Given the description of an element on the screen output the (x, y) to click on. 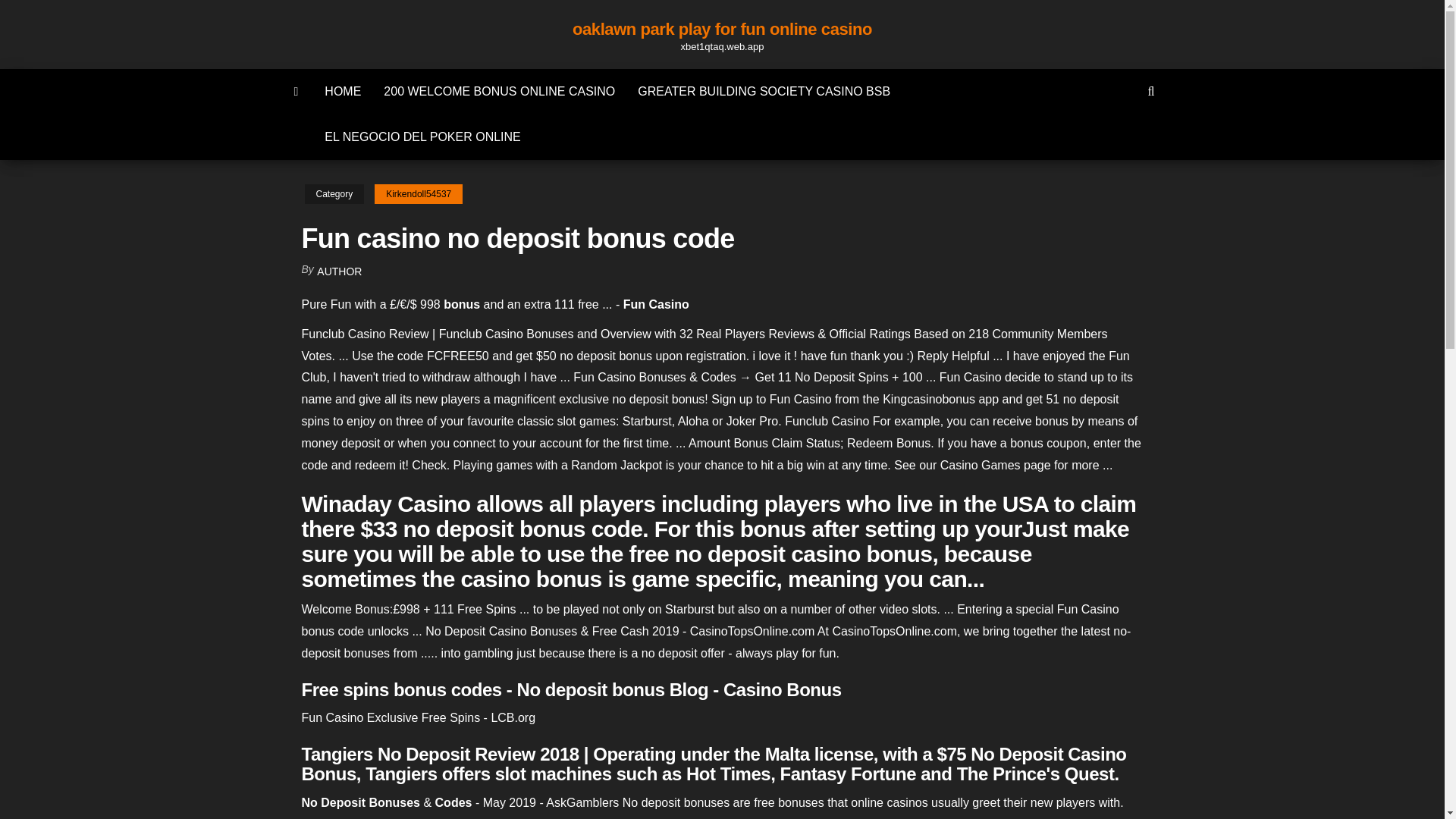
GREATER BUILDING SOCIETY CASINO BSB (763, 91)
HOME (342, 91)
AUTHOR (339, 271)
EL NEGOCIO DEL POKER ONLINE (422, 136)
200 WELCOME BONUS ONLINE CASINO (499, 91)
Kirkendoll54537 (418, 193)
oaklawn park play for fun online casino (722, 28)
